Given the description of an element on the screen output the (x, y) to click on. 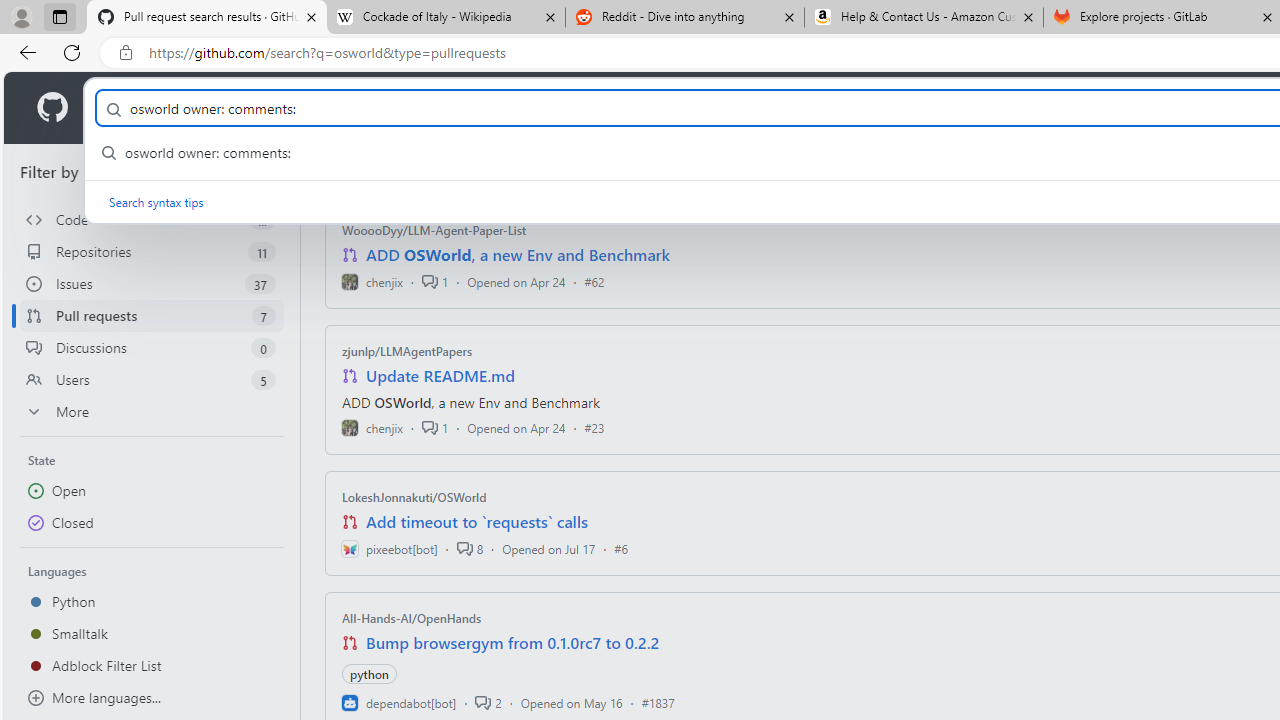
#1837 (657, 702)
Add timeout to `requests` calls (476, 521)
Enterprise (563, 107)
Product (130, 107)
Resources (330, 107)
#23 (594, 427)
chenjix (372, 427)
pixeebot[bot] (389, 548)
zjunlp/LLMAgentPapers (407, 351)
Product (130, 107)
